Given the description of an element on the screen output the (x, y) to click on. 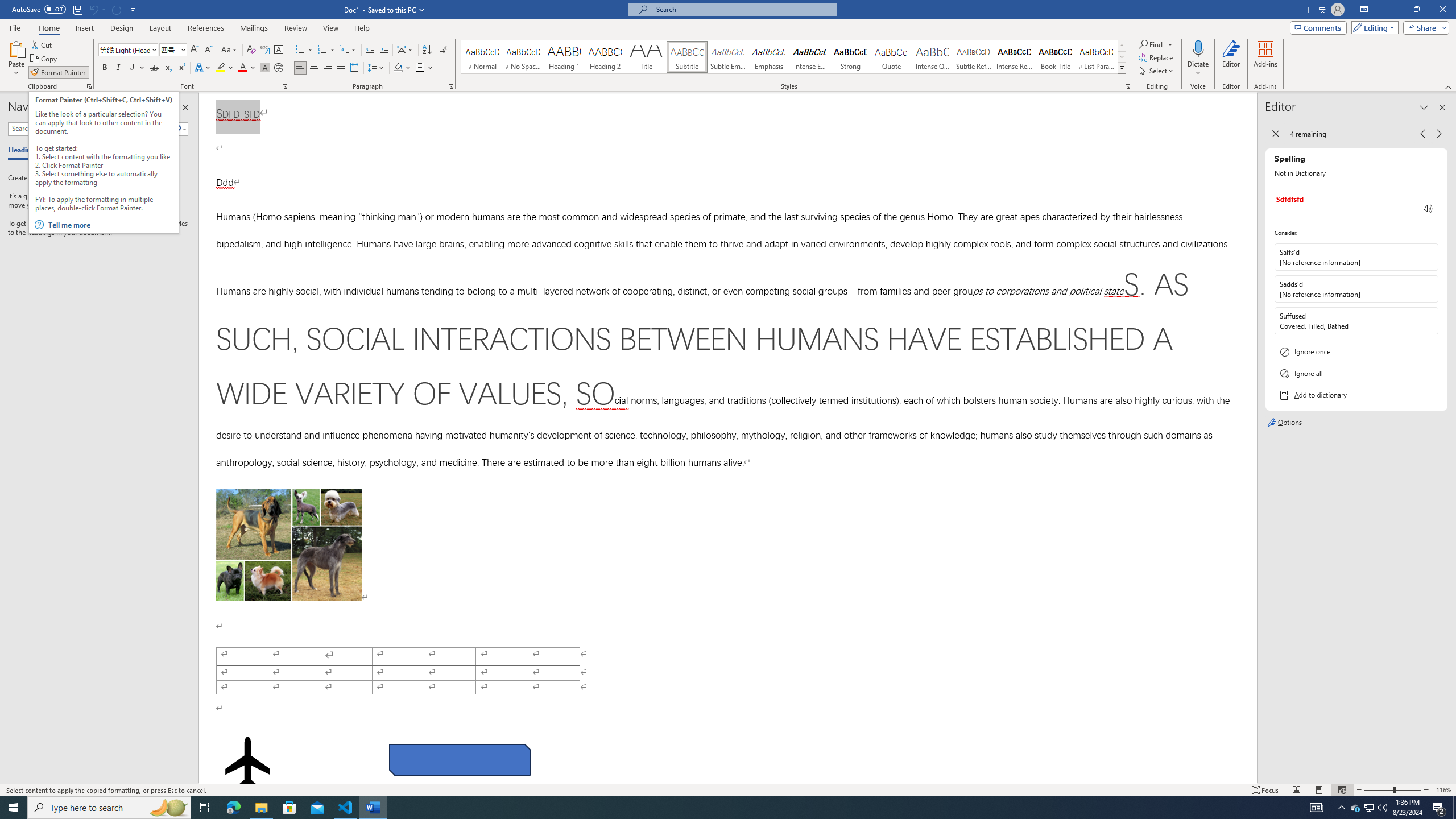
Results (91, 150)
Search (177, 128)
Character Shading (264, 67)
Task Pane Options (167, 107)
Subtitle (686, 56)
Sort... (426, 49)
Center (313, 67)
Emphasis (768, 56)
Office Clipboard... (88, 85)
Change Case (229, 49)
Paste (16, 48)
Copy (45, 58)
Subtle Emphasis (727, 56)
